Given the description of an element on the screen output the (x, y) to click on. 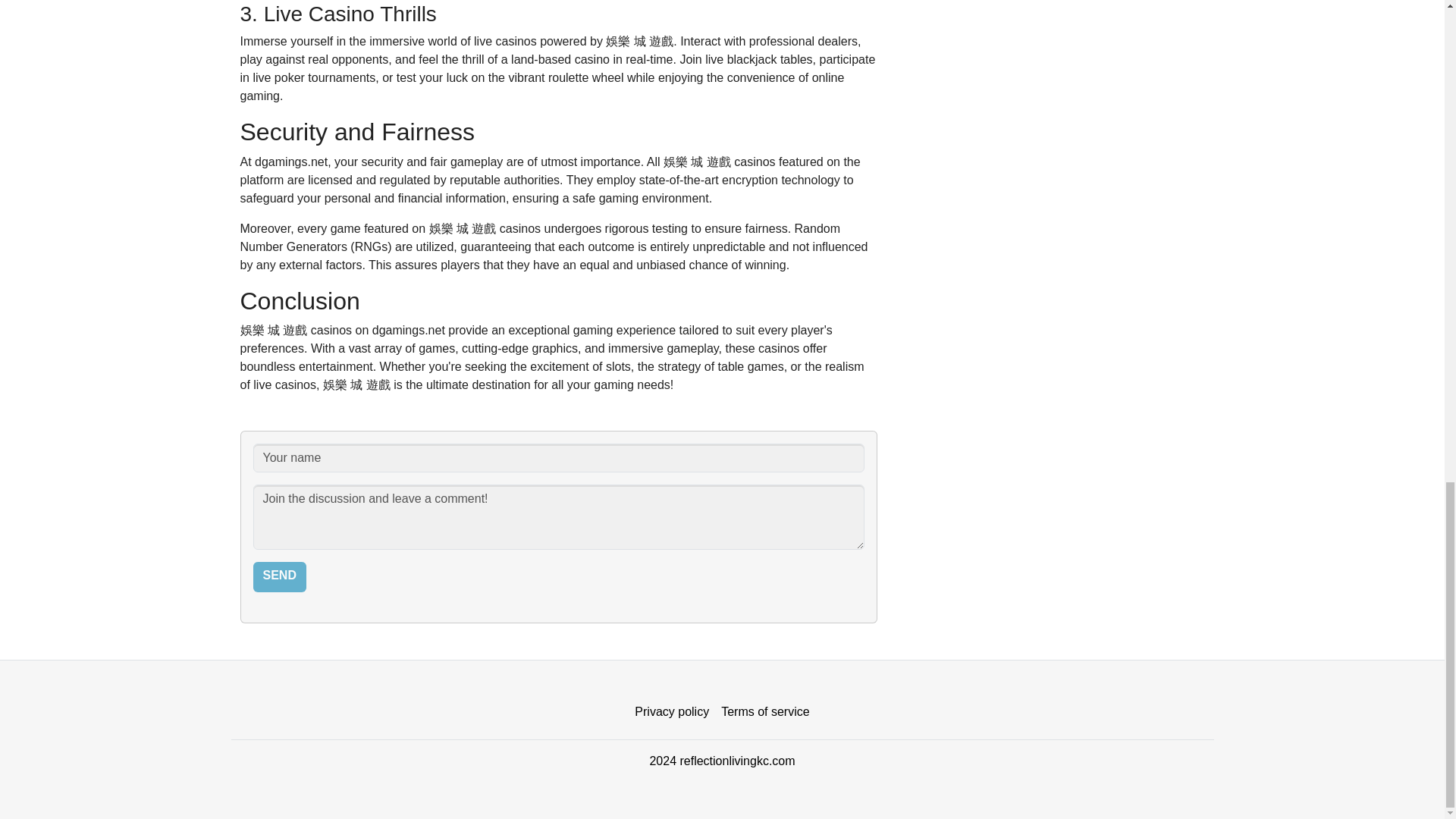
Privacy policy (671, 711)
Terms of service (764, 711)
Send (279, 576)
Send (279, 576)
